Given the description of an element on the screen output the (x, y) to click on. 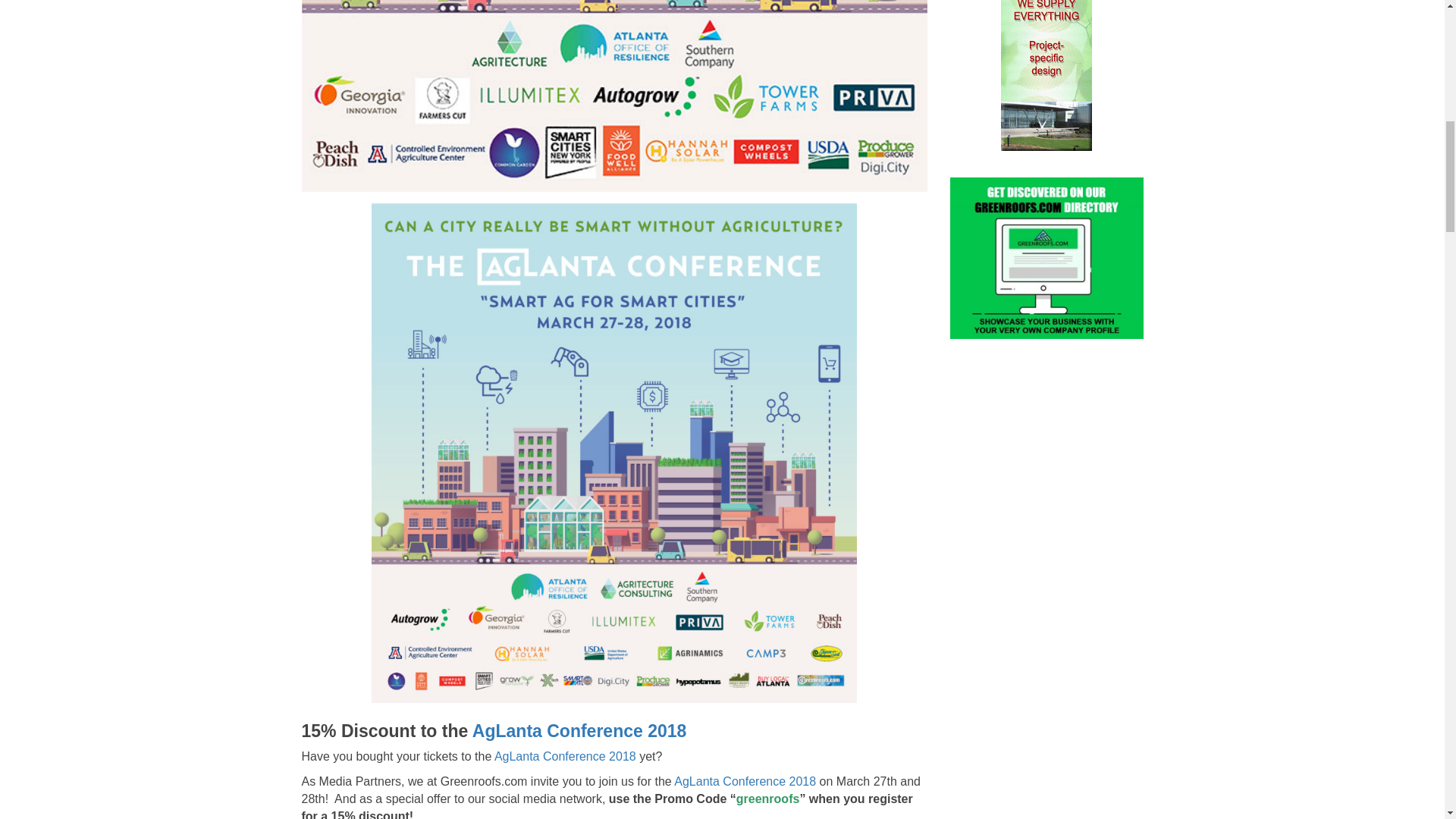
AgLanta Conference 2018 (565, 756)
AgLanta Conference 2018 (744, 780)
AgLanta Conference 2018 (578, 731)
